Given the description of an element on the screen output the (x, y) to click on. 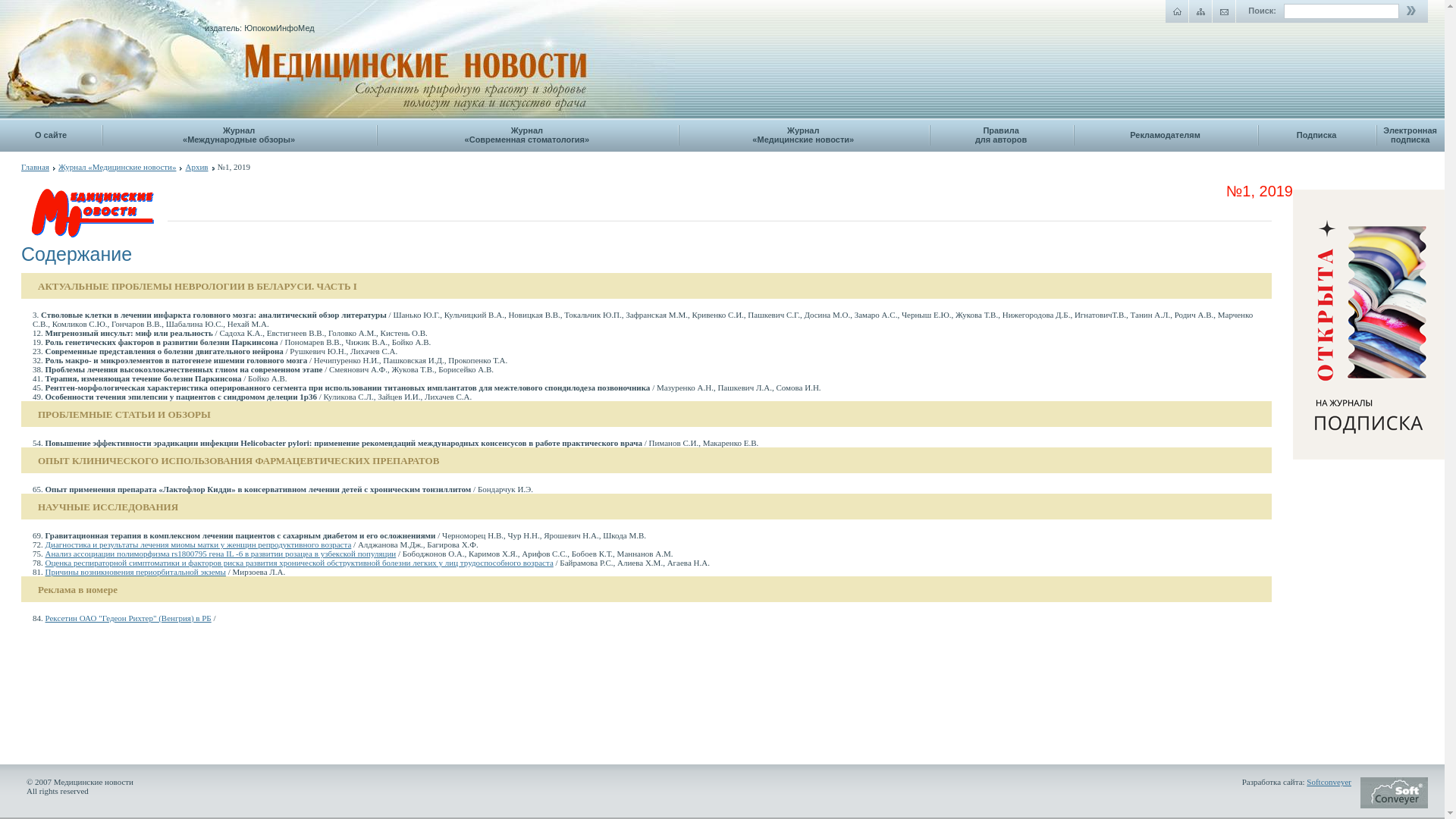
Softconveyer Element type: text (1328, 781)
